Given the description of an element on the screen output the (x, y) to click on. 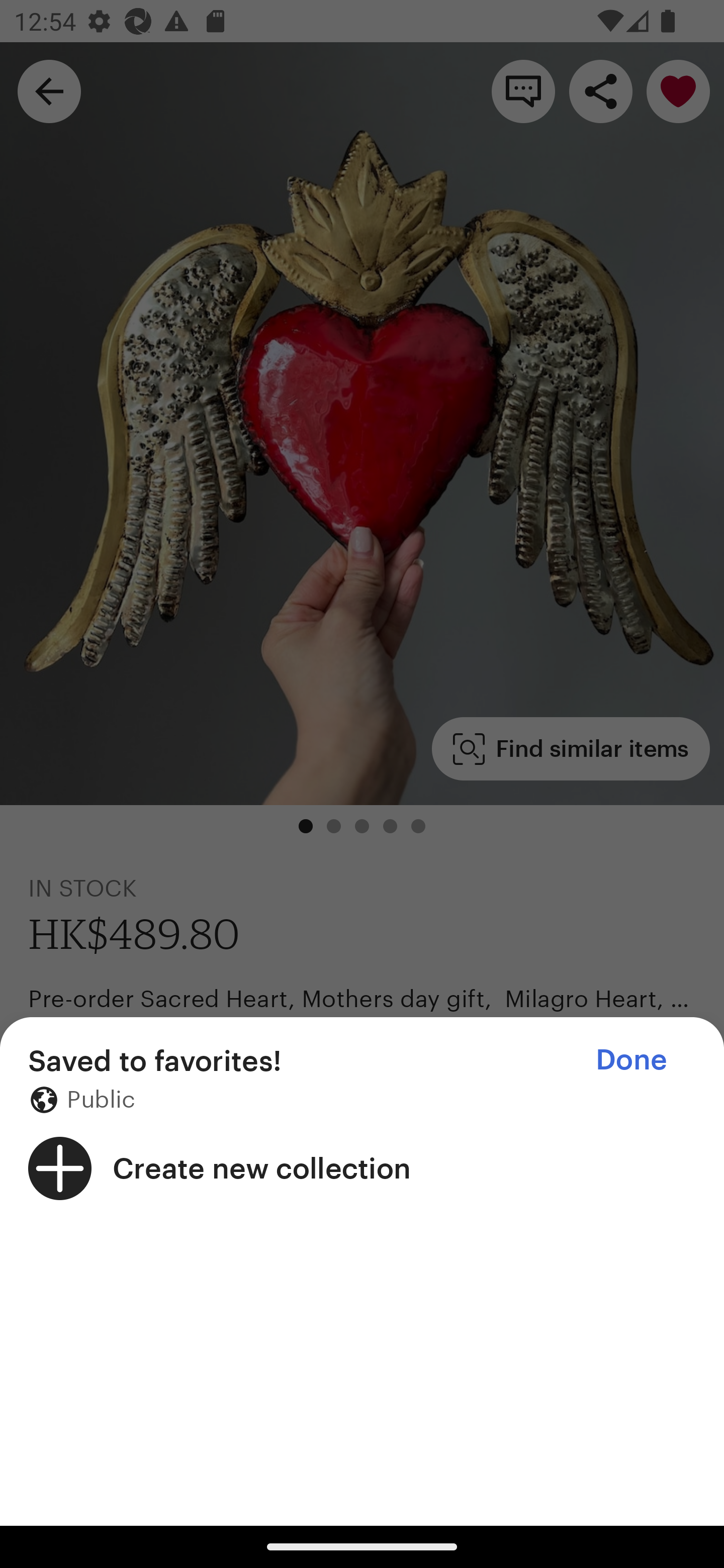
Done (630, 1059)
Create new collection (361, 1167)
